Given the description of an element on the screen output the (x, y) to click on. 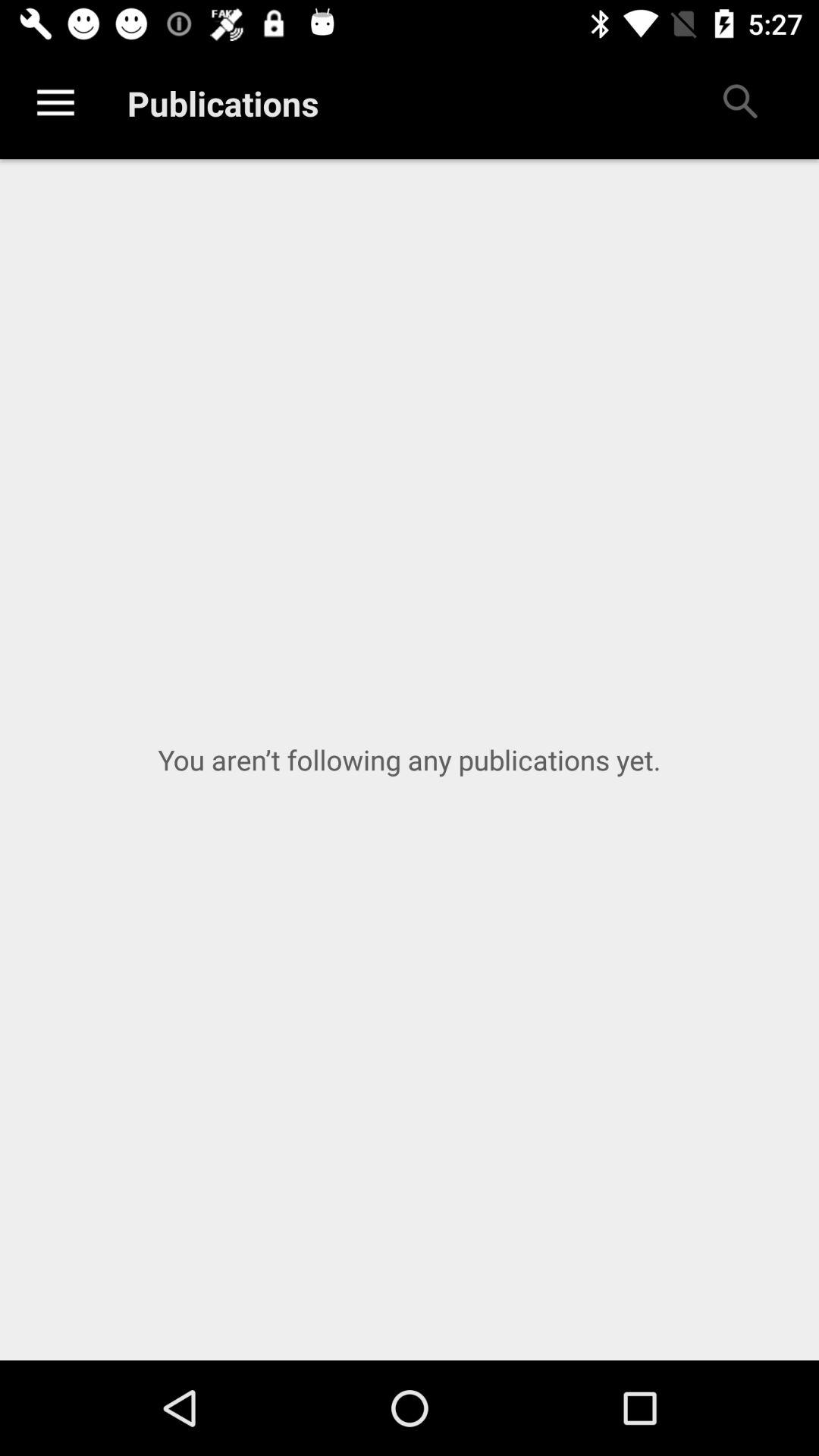
select icon at the top right corner (739, 103)
